Given the description of an element on the screen output the (x, y) to click on. 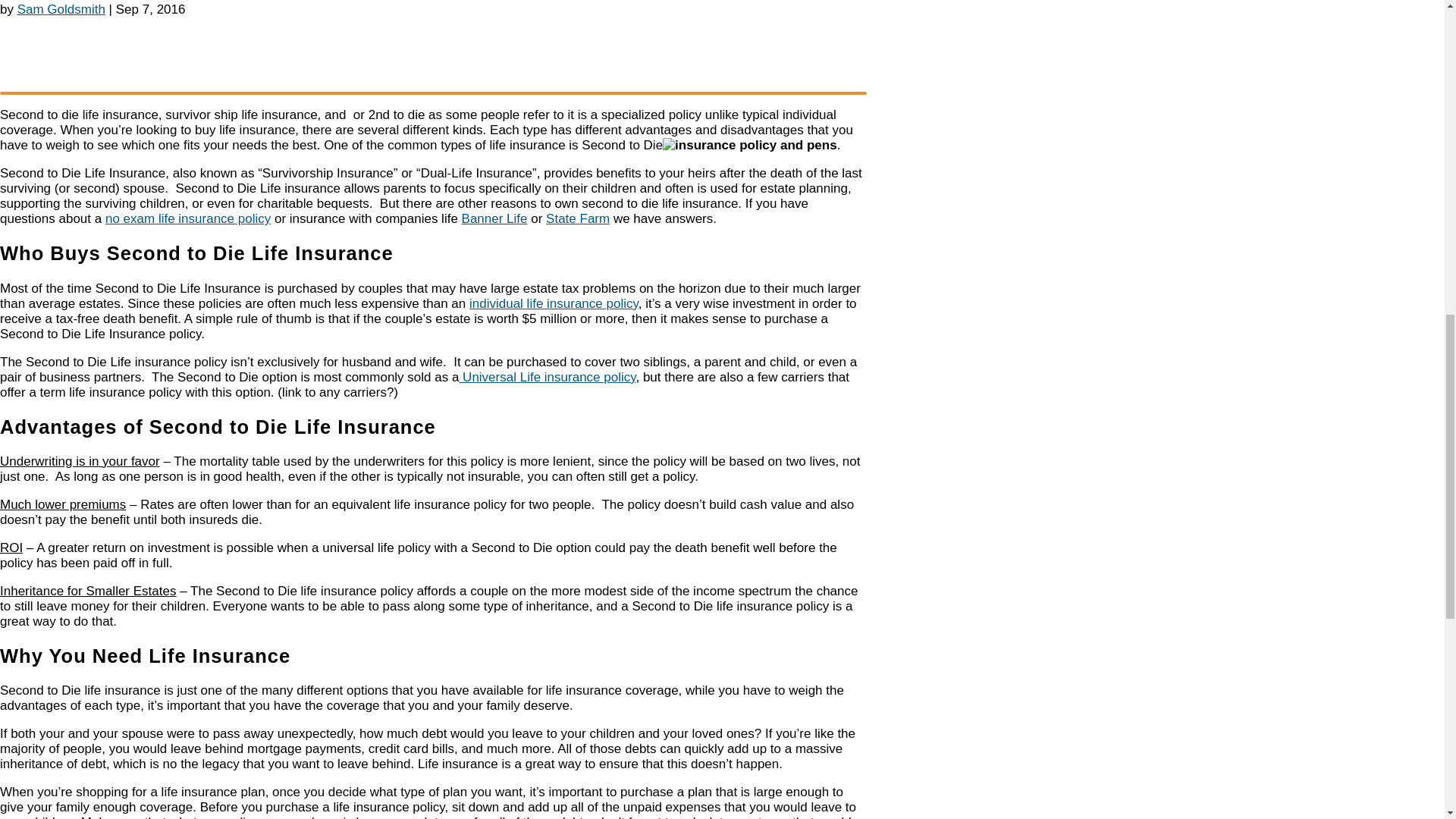
different types of life insurance (553, 303)
Posts by Sam Goldsmith (60, 9)
universal life insurance (546, 377)
